Given the description of an element on the screen output the (x, y) to click on. 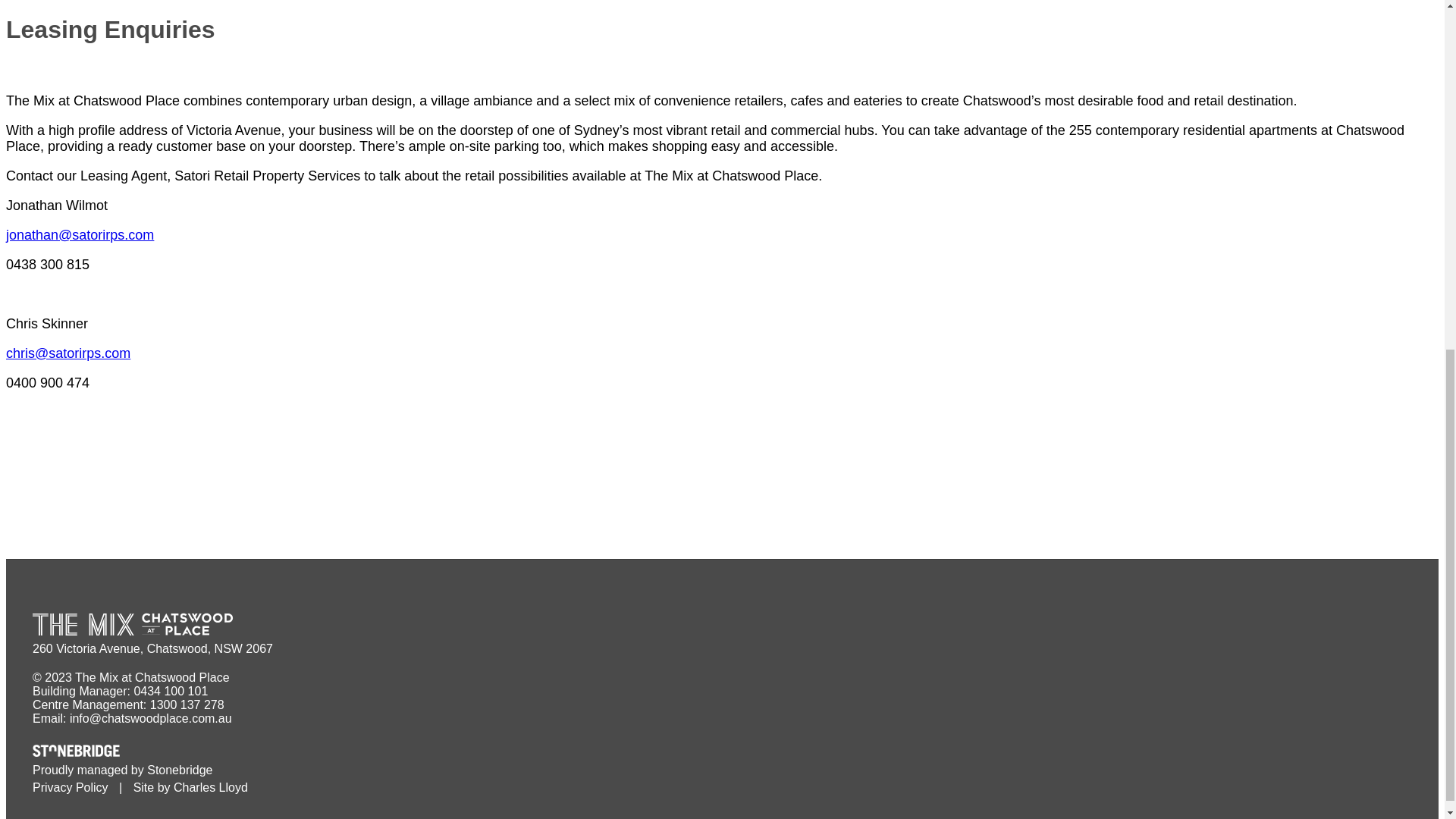
Privacy Policy (69, 787)
0434 100 101 (170, 690)
1300 137 278 (186, 704)
Charles Lloyd (210, 787)
